Given the description of an element on the screen output the (x, y) to click on. 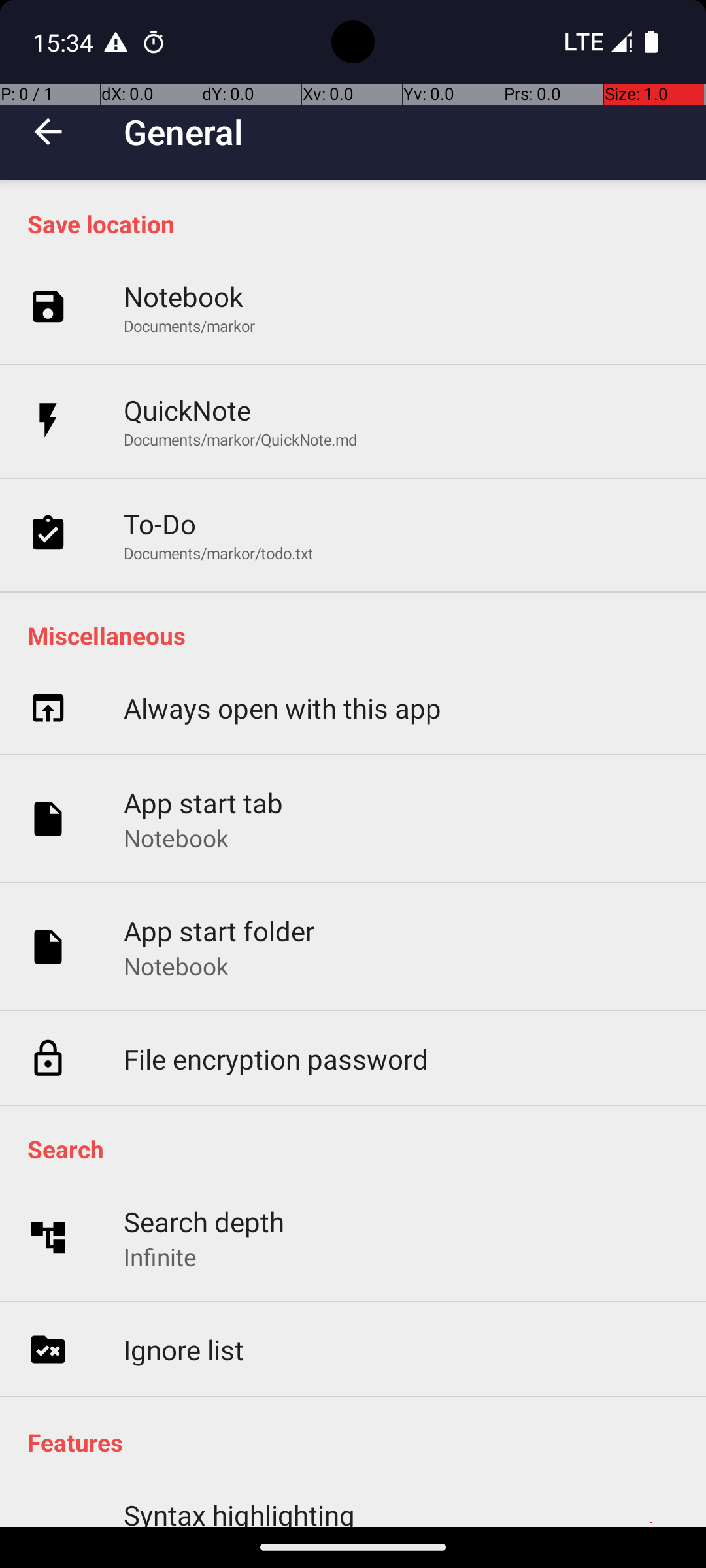
General Element type: android.widget.TextView (183, 131)
Save location Element type: android.widget.TextView (359, 223)
Miscellaneous Element type: android.widget.TextView (359, 635)
Features Element type: android.widget.TextView (359, 1441)
Notebook Element type: android.widget.TextView (183, 295)
Documents/markor Element type: android.widget.TextView (188, 325)
Documents/markor/QuickNote.md Element type: android.widget.TextView (239, 439)
Documents/markor/todo.txt Element type: android.widget.TextView (218, 552)
Always open with this app Element type: android.widget.TextView (282, 707)
App start tab Element type: android.widget.TextView (203, 802)
App start folder Element type: android.widget.TextView (219, 930)
File encryption password Element type: android.widget.TextView (275, 1058)
Search depth Element type: android.widget.TextView (203, 1221)
Infinite Element type: android.widget.TextView (159, 1256)
Ignore list Element type: android.widget.TextView (183, 1349)
Syntax highlighting Element type: android.widget.TextView (238, 1511)
